Given the description of an element on the screen output the (x, y) to click on. 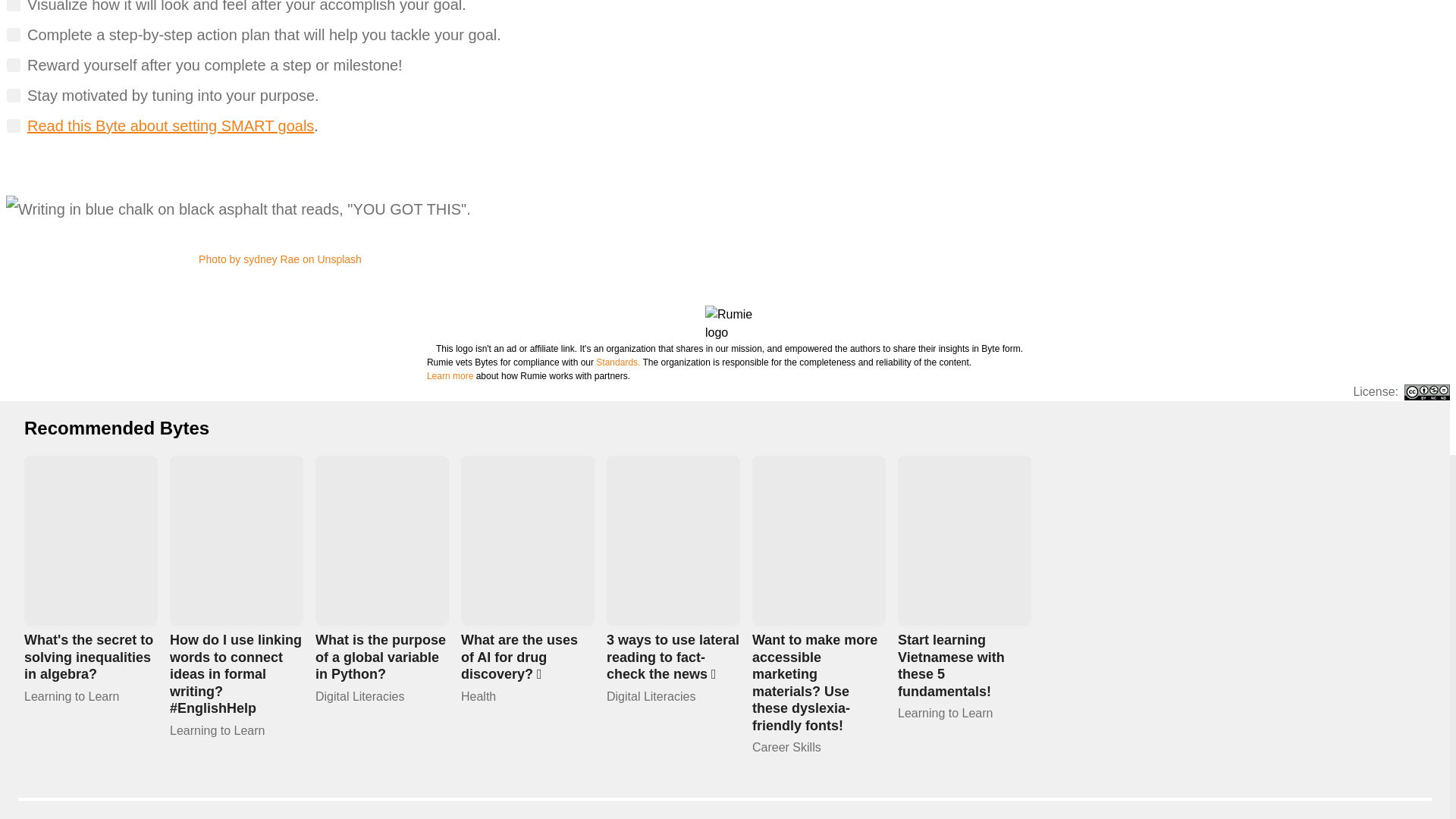
on (13, 34)
on (13, 125)
on (13, 64)
on (13, 6)
on (13, 95)
